Given the description of an element on the screen output the (x, y) to click on. 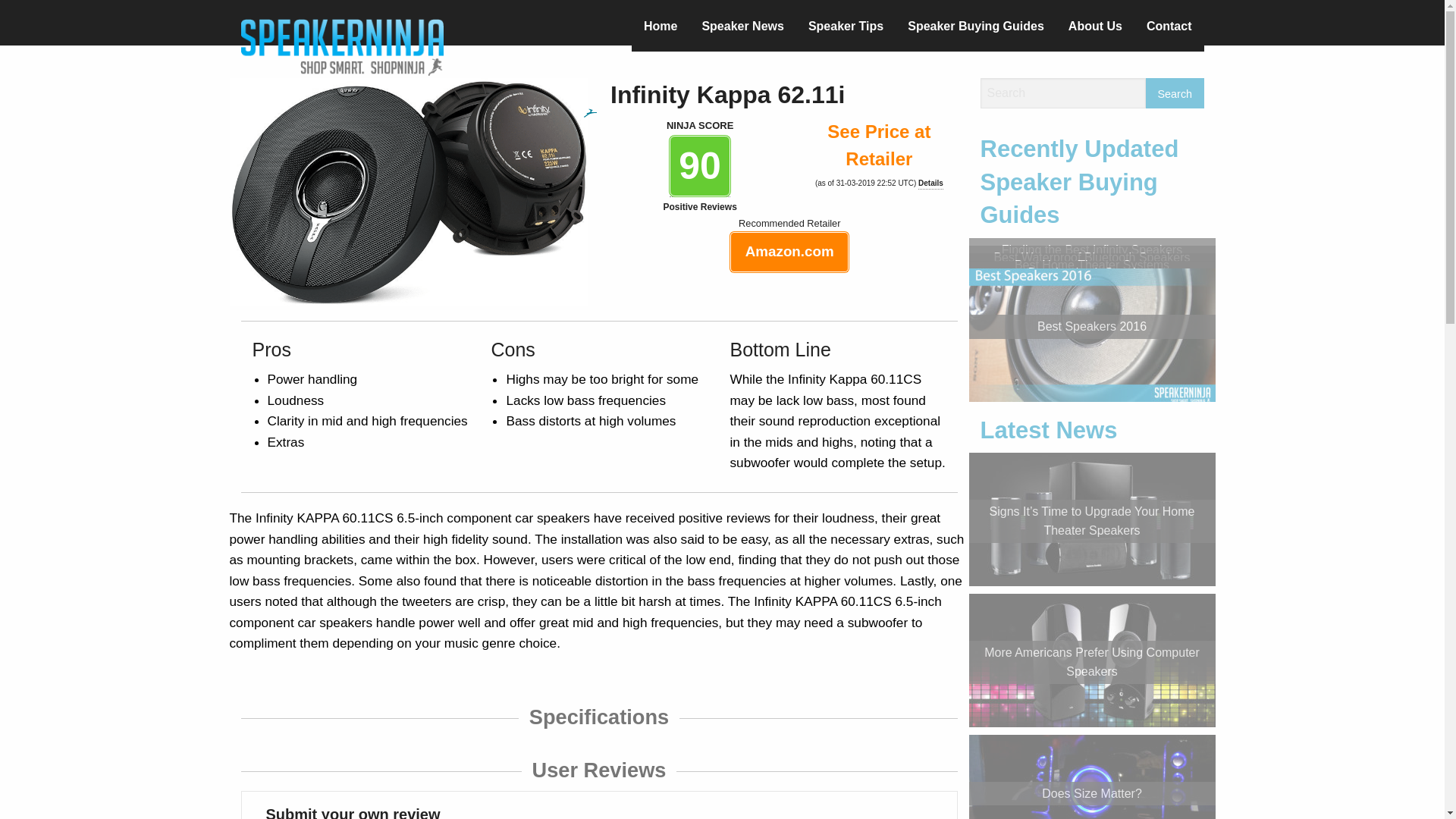
Contact (1169, 28)
Speaker Buying Guides (976, 28)
Finding the Best Infinity Speakers (1091, 249)
Speaker News (742, 28)
About Us (1095, 28)
Speaker Tips (845, 28)
Amazon.com (789, 251)
Search (1174, 92)
Search (1174, 92)
Home (659, 28)
Best Waterproof Bluetooth Speakers (1090, 256)
